Given the description of an element on the screen output the (x, y) to click on. 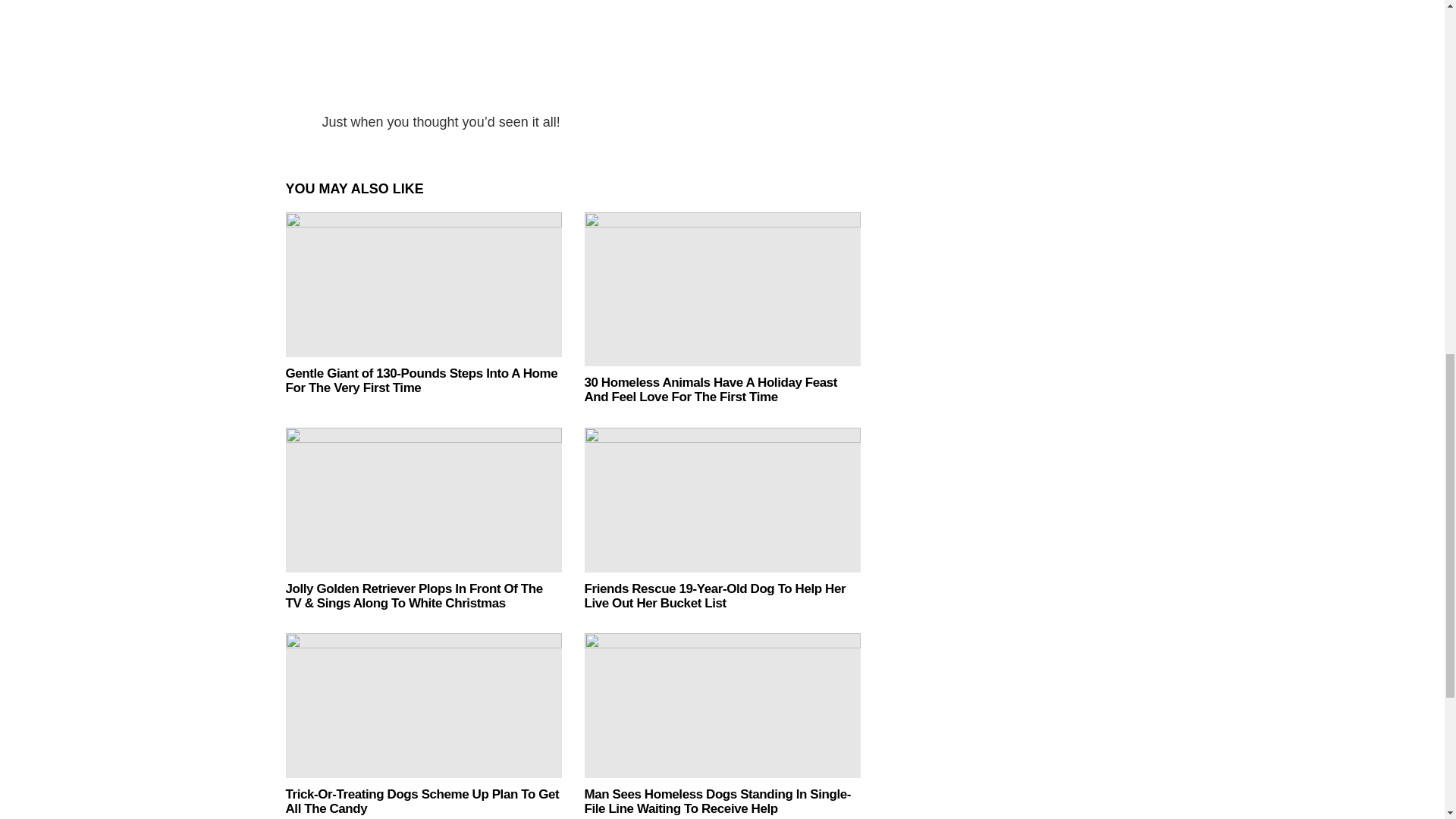
Trick-Or-Treating Dogs Scheme Up Plan To Get All The Candy (422, 801)
Trick-Or-Treating Dogs Scheme Up Plan To Get All The Candy (422, 705)
